Given the description of an element on the screen output the (x, y) to click on. 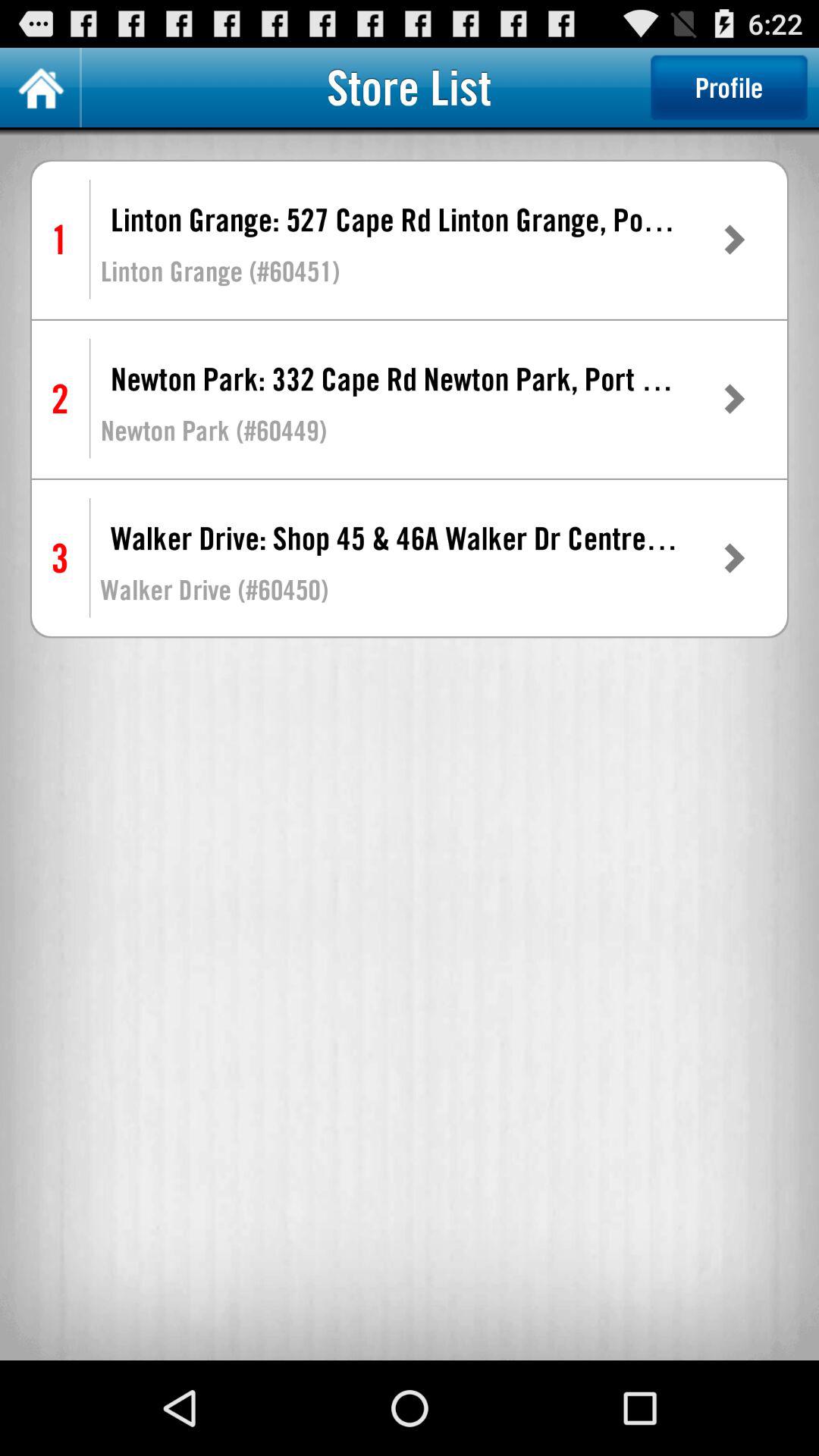
choose the item next to walker drive shop icon (733, 558)
